Given the description of an element on the screen output the (x, y) to click on. 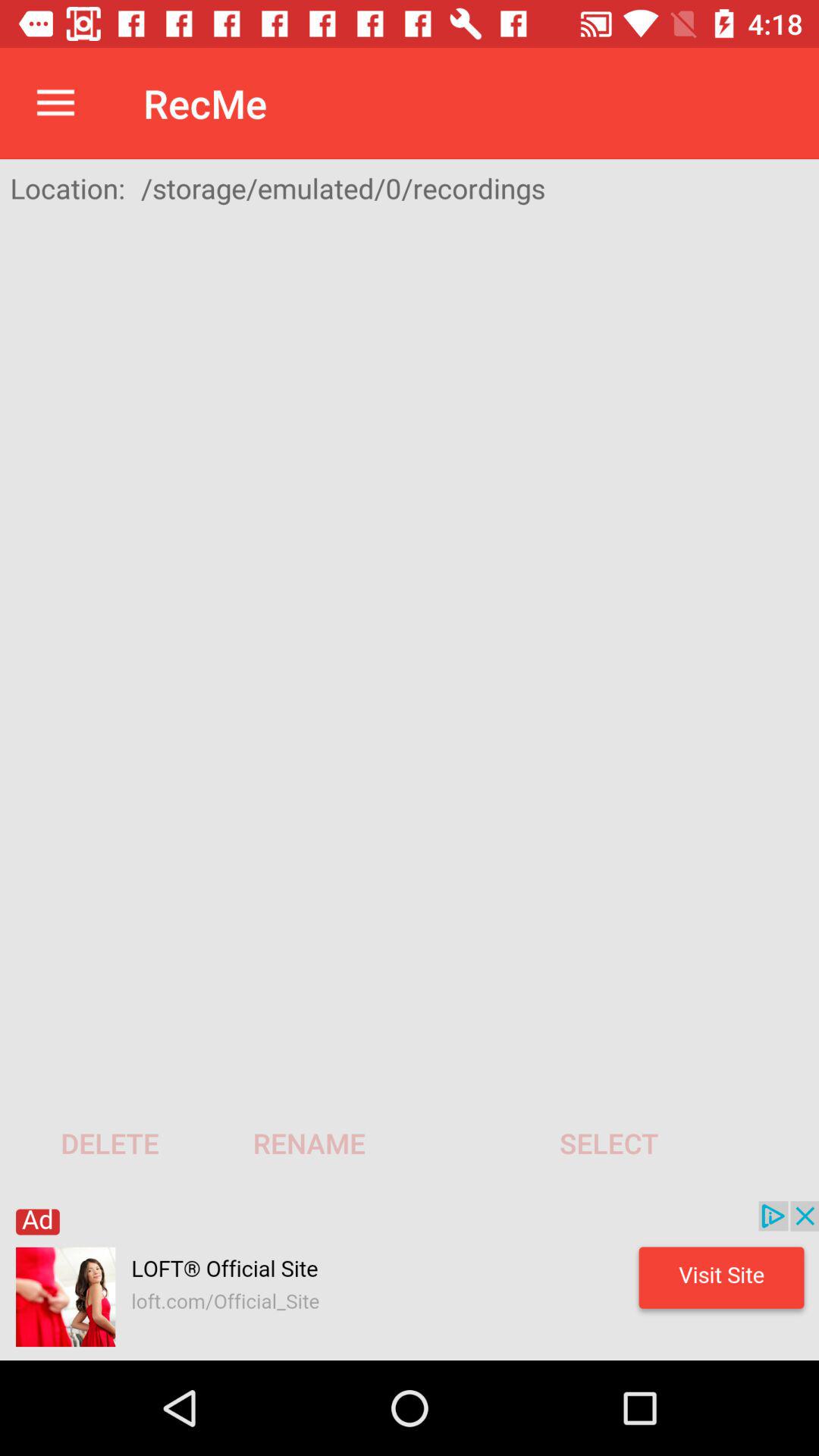
advertisement (409, 1280)
